Given the description of an element on the screen output the (x, y) to click on. 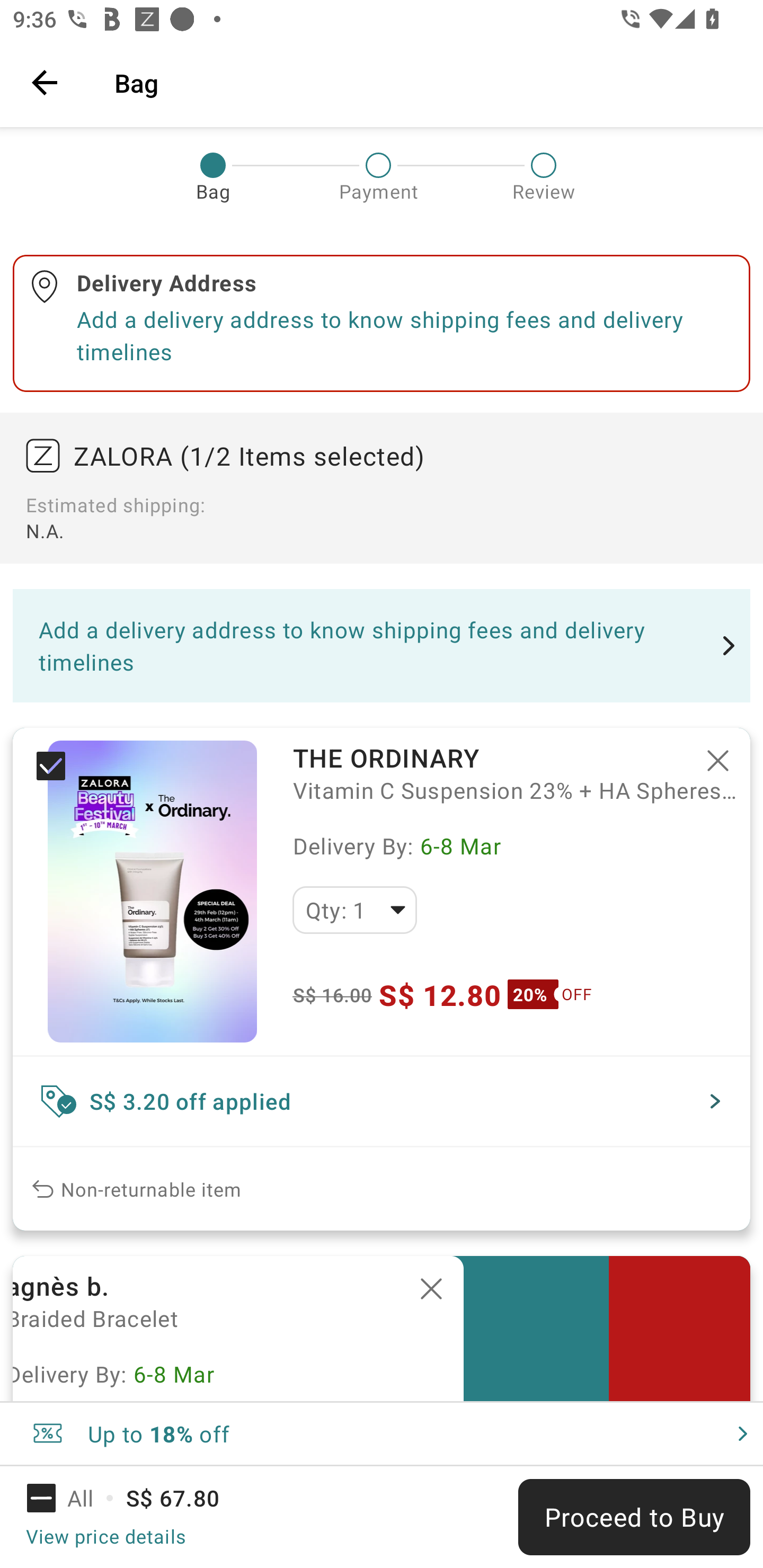
Navigate up (44, 82)
Bag (426, 82)
Qty: 1 (354, 909)
S$ 3.20 off applied (381, 1101)
agnès b. Braided Bracelet Delivery By: 6-8 Mar (237, 1328)
Up to 18% off (381, 1433)
All (72, 1497)
Proceed to Buy (634, 1516)
View price details (105, 1535)
